Given the description of an element on the screen output the (x, y) to click on. 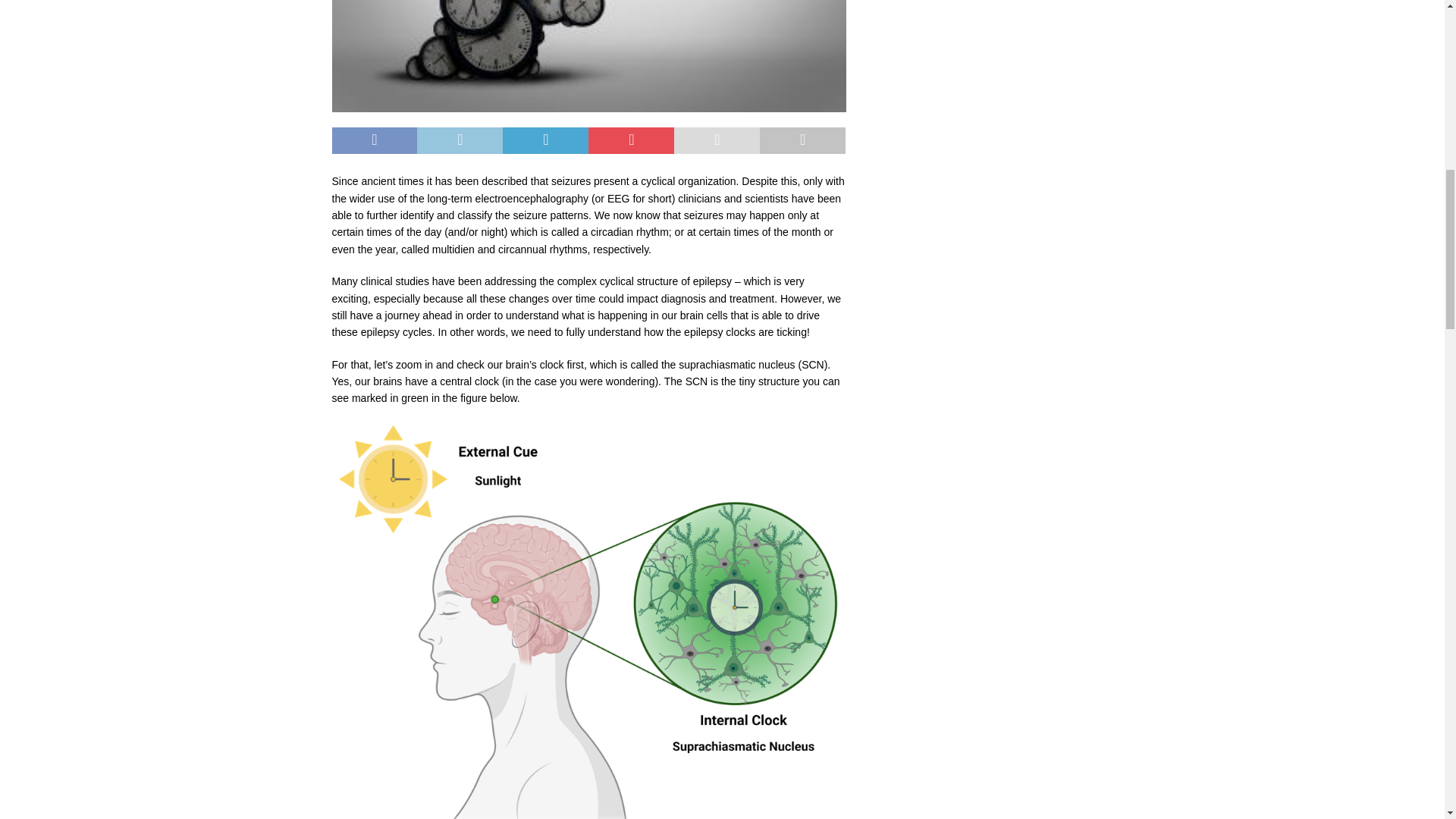
clocks (588, 56)
